Given the description of an element on the screen output the (x, y) to click on. 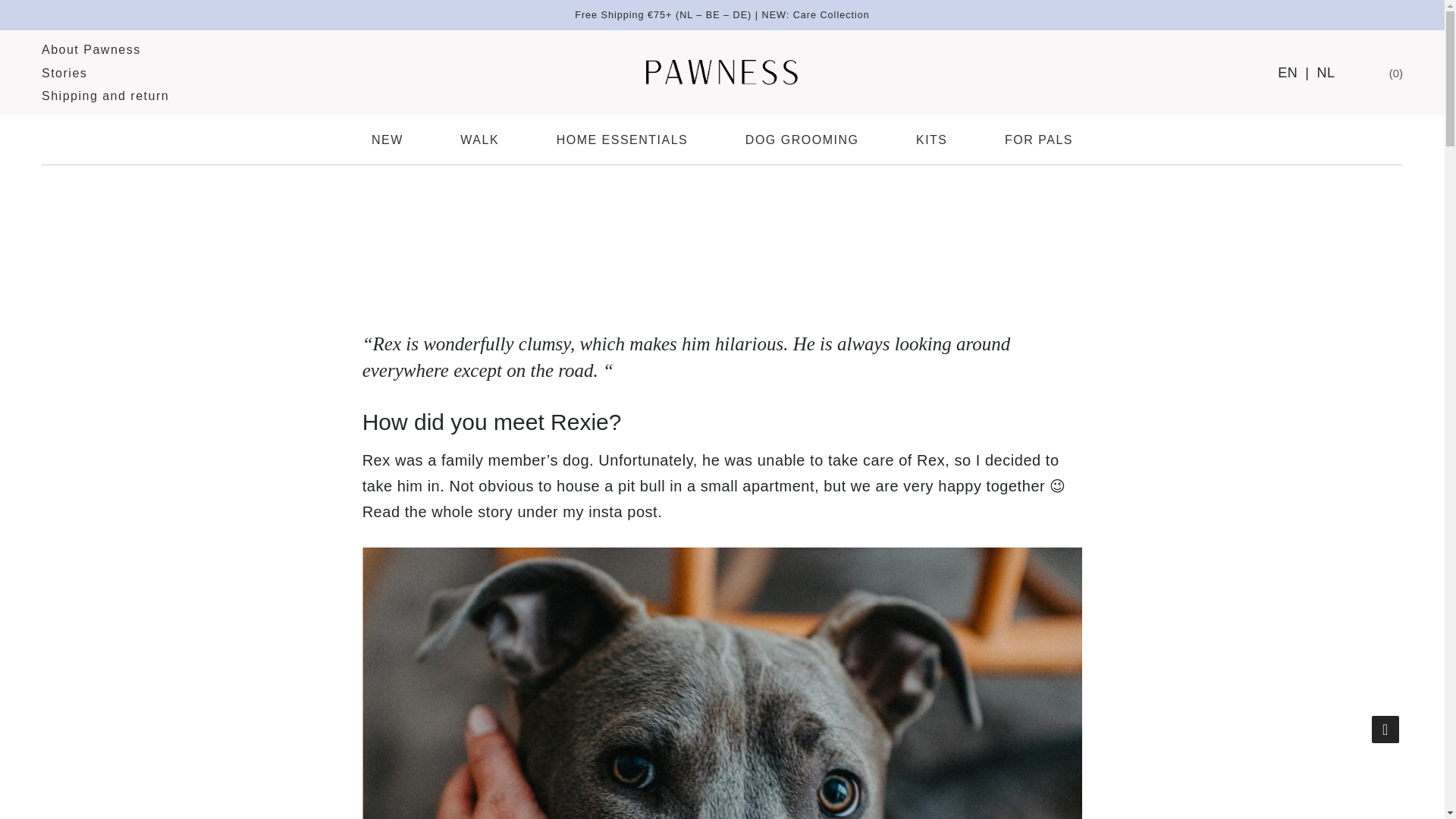
NL (1325, 72)
WALK (479, 139)
Pawness (721, 72)
About Pawness (91, 49)
0 (1394, 72)
NEW (400, 139)
Shipping and return (722, 139)
NEW: Care Collection (105, 95)
Stories (815, 14)
EN (64, 72)
